Given the description of an element on the screen output the (x, y) to click on. 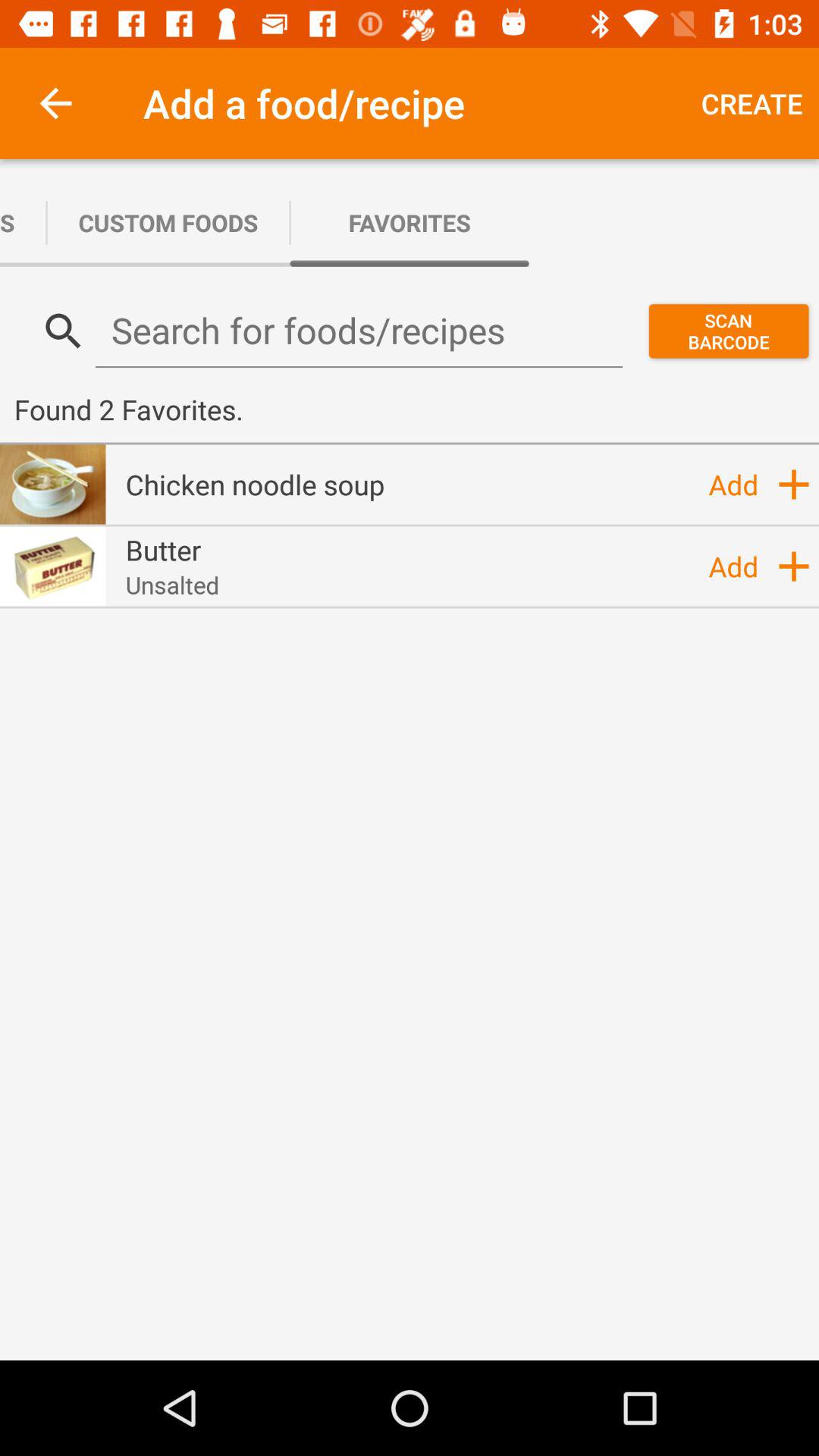
press the app next to custom recipes item (168, 222)
